Given the description of an element on the screen output the (x, y) to click on. 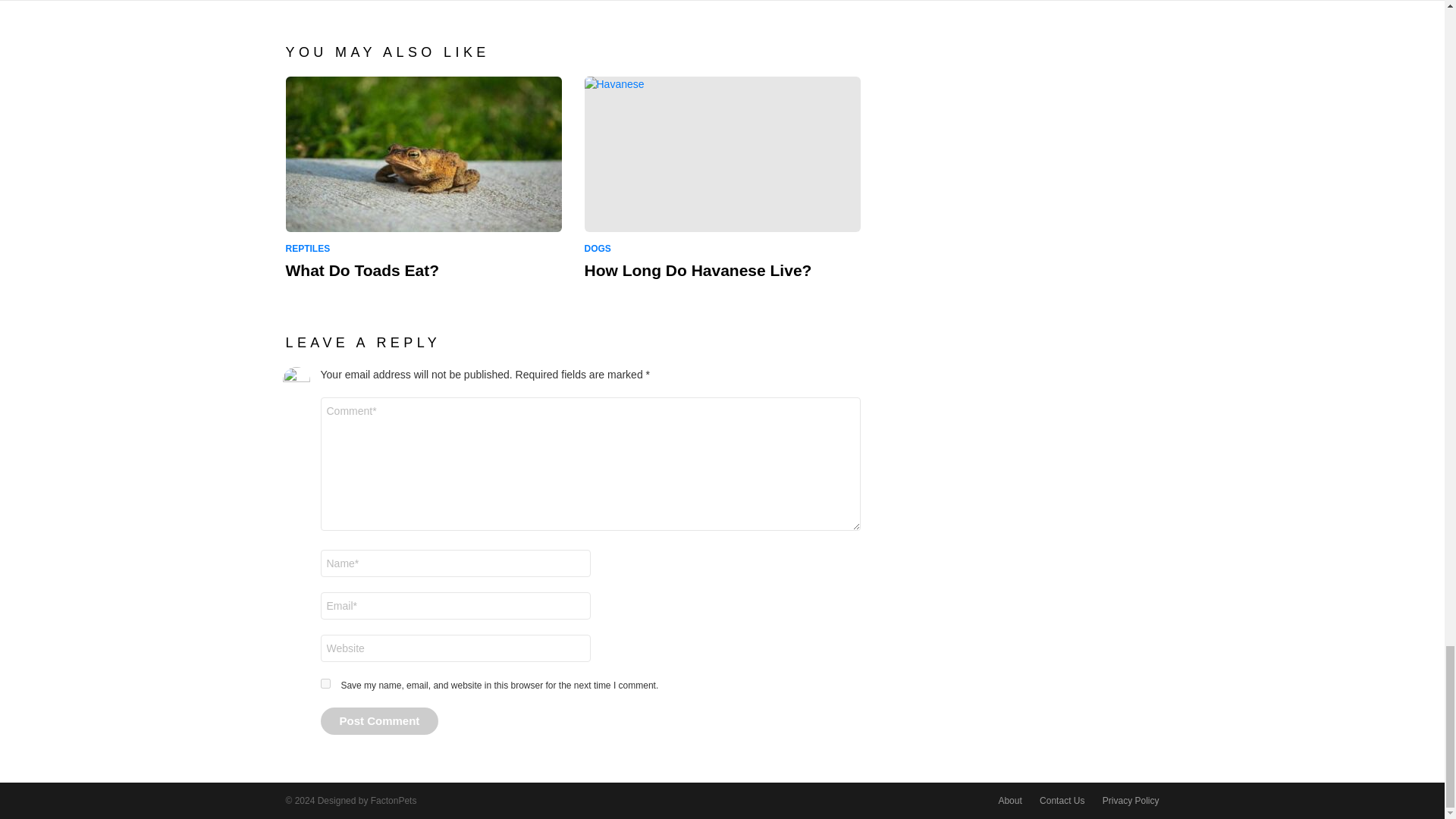
How Long Do Havanese Live? (721, 153)
REPTILES (310, 248)
yes (325, 683)
What Do Toads Eat? (362, 270)
Post Comment (379, 720)
What Do Toads Eat? (422, 153)
How Long Do Havanese Live? (696, 270)
DOGS (599, 248)
Post Comment (379, 720)
